Given the description of an element on the screen output the (x, y) to click on. 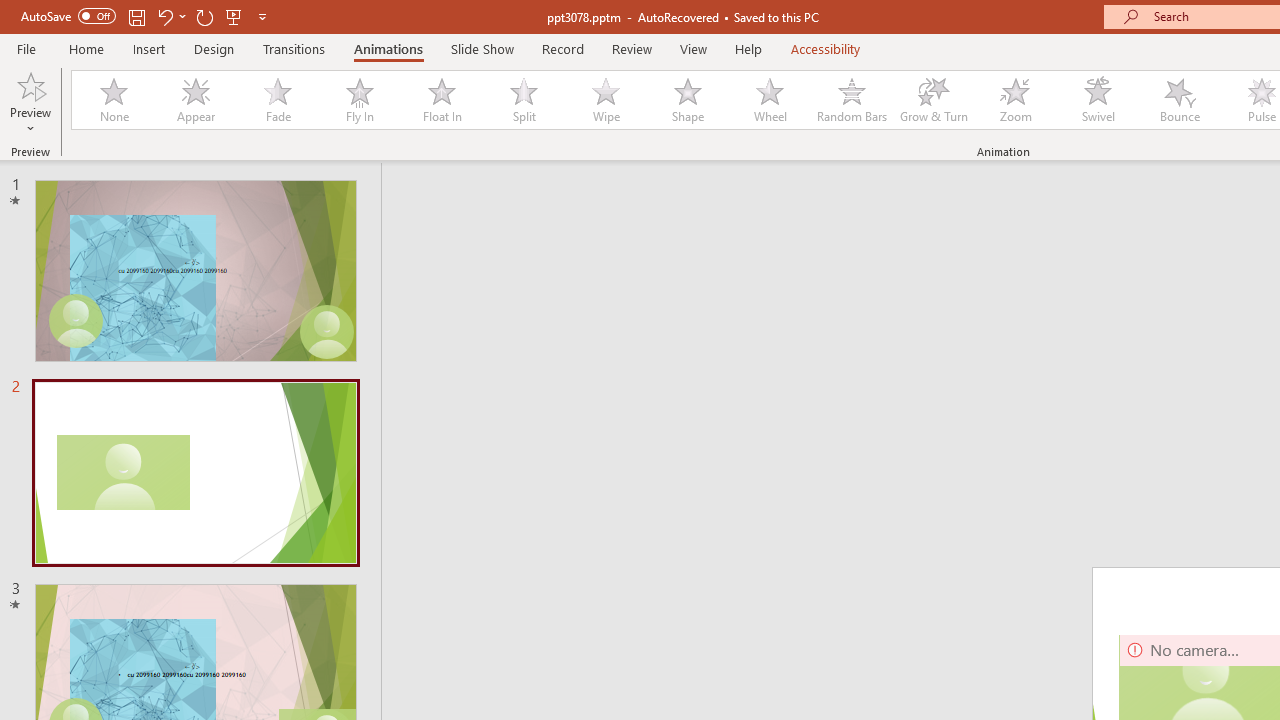
Fly In (359, 100)
Float In (441, 100)
Appear (195, 100)
